Given the description of an element on the screen output the (x, y) to click on. 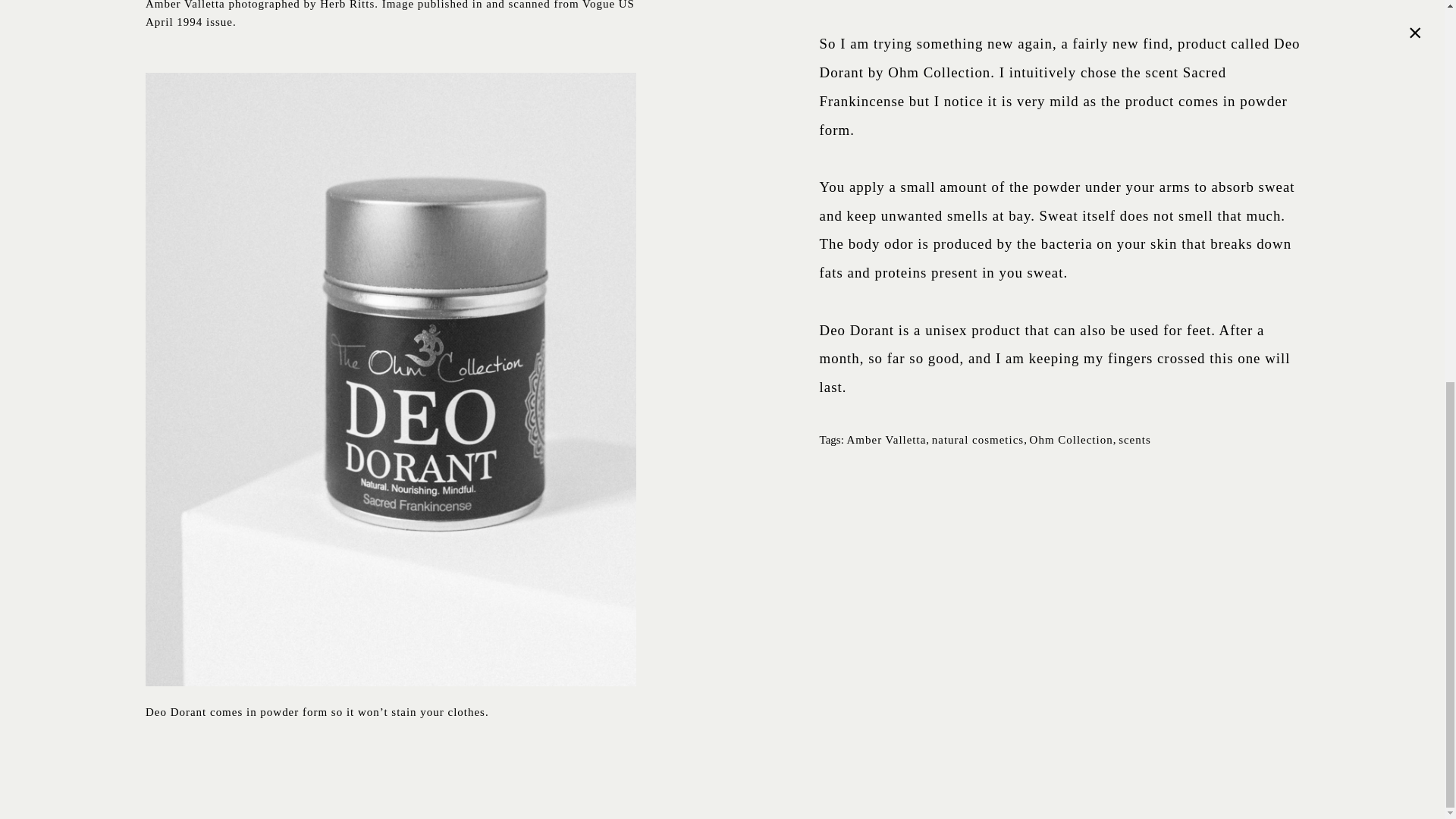
natural cosmetics (977, 439)
Ohm Collection (1071, 439)
Amber Valletta (886, 439)
scents (1134, 439)
Deo Dorant (1059, 58)
